Given the description of an element on the screen output the (x, y) to click on. 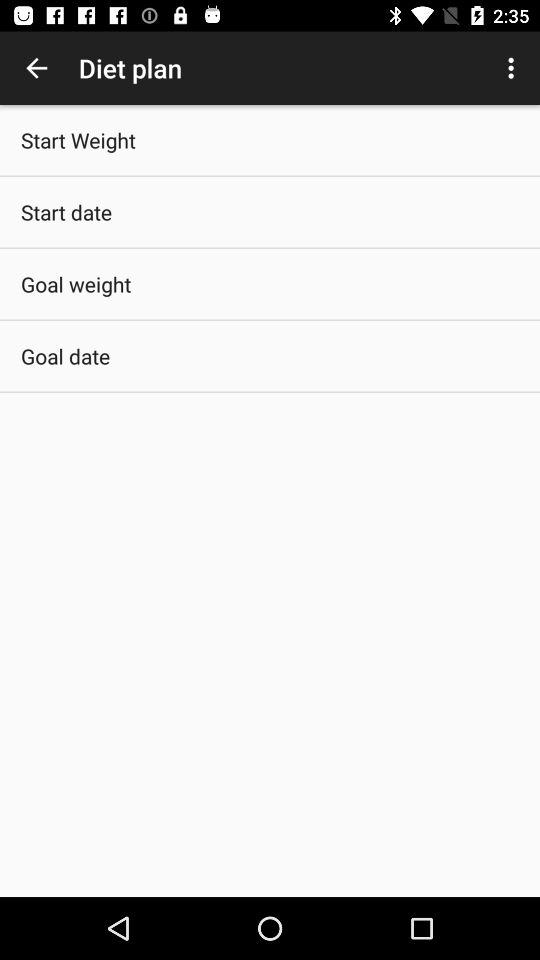
jump to goal date (65, 355)
